Given the description of an element on the screen output the (x, y) to click on. 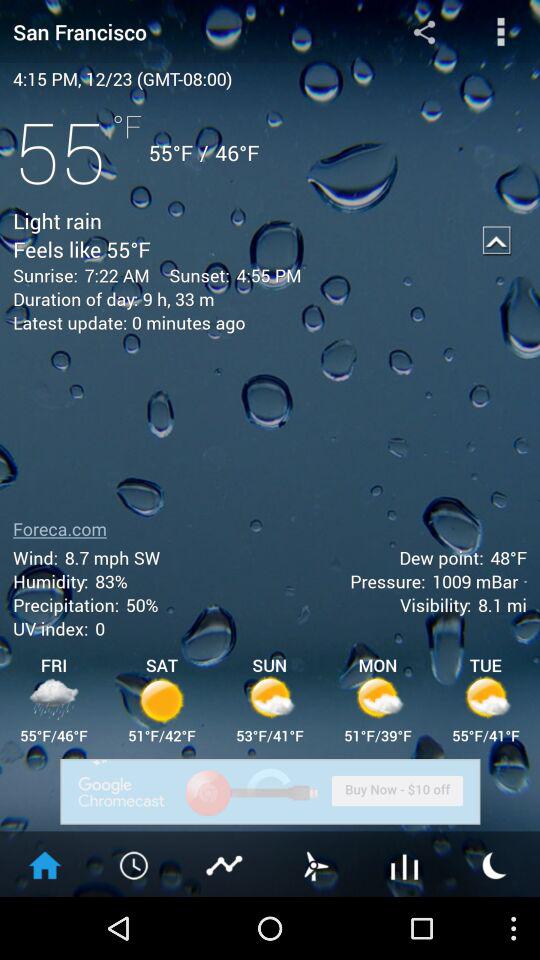
turn off san francisco app (179, 31)
